Given the description of an element on the screen output the (x, y) to click on. 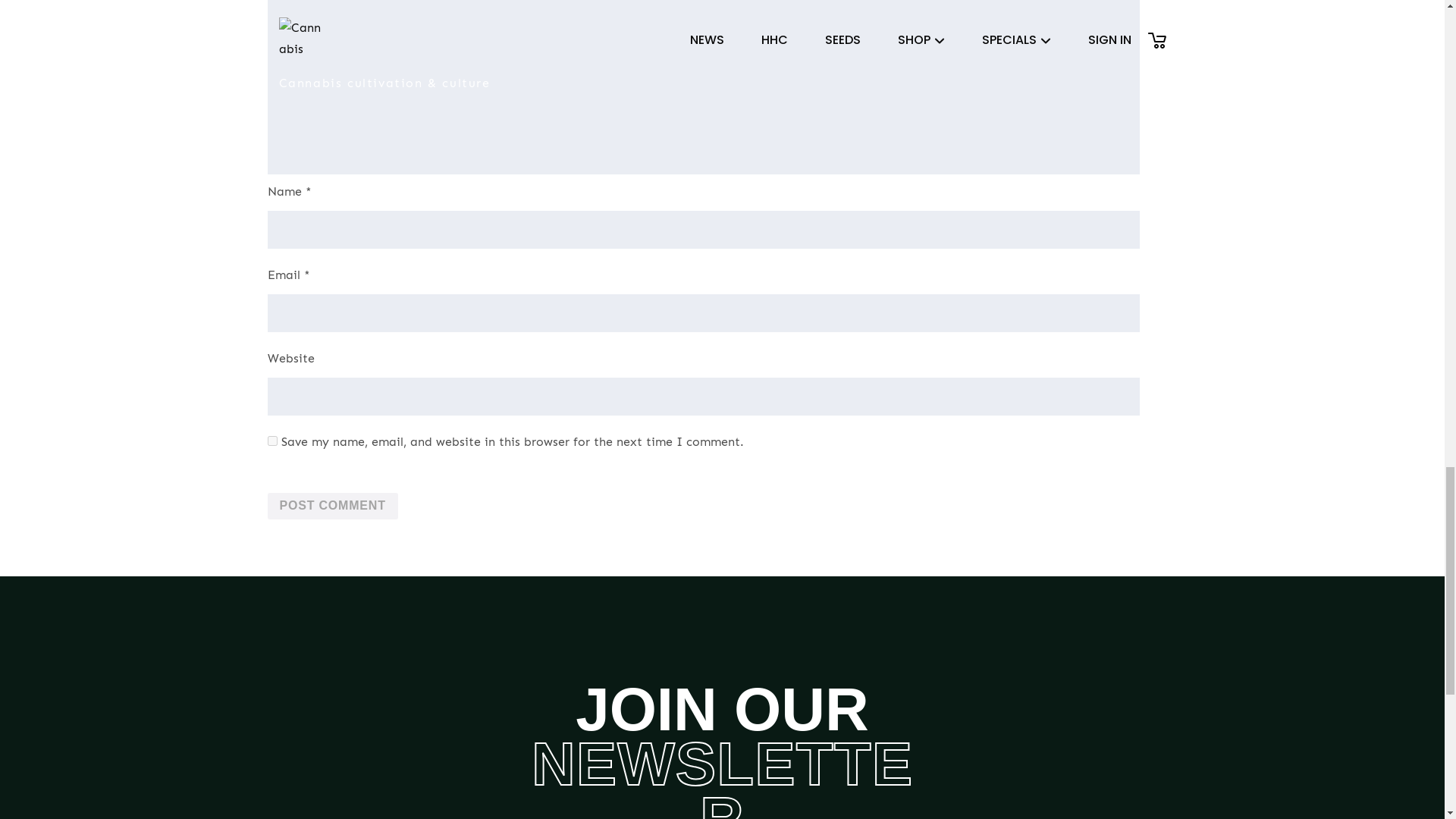
Post Comment (331, 506)
yes (271, 440)
